Given the description of an element on the screen output the (x, y) to click on. 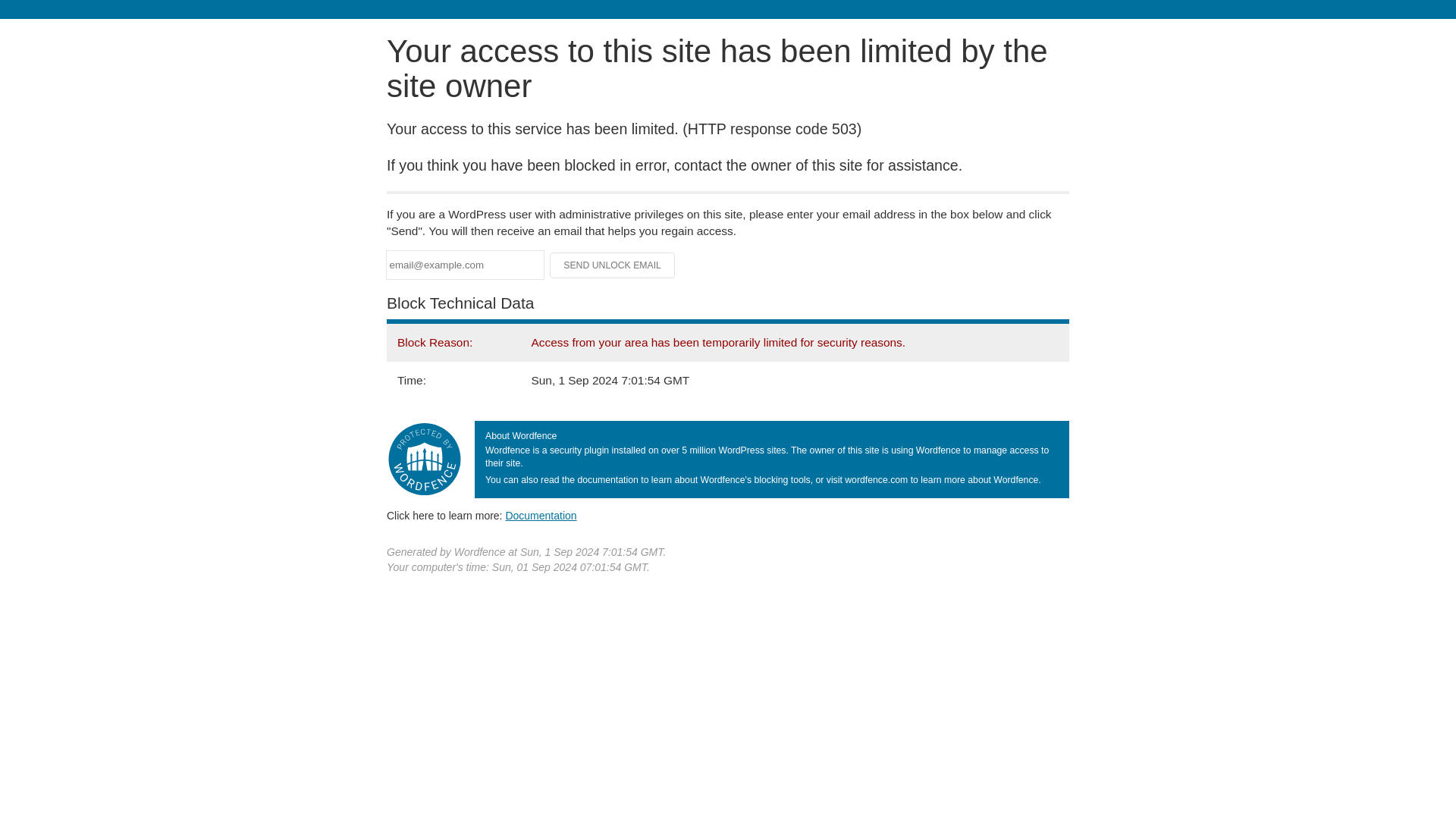
Documentation (540, 515)
Send Unlock Email (612, 265)
Send Unlock Email (612, 265)
